Given the description of an element on the screen output the (x, y) to click on. 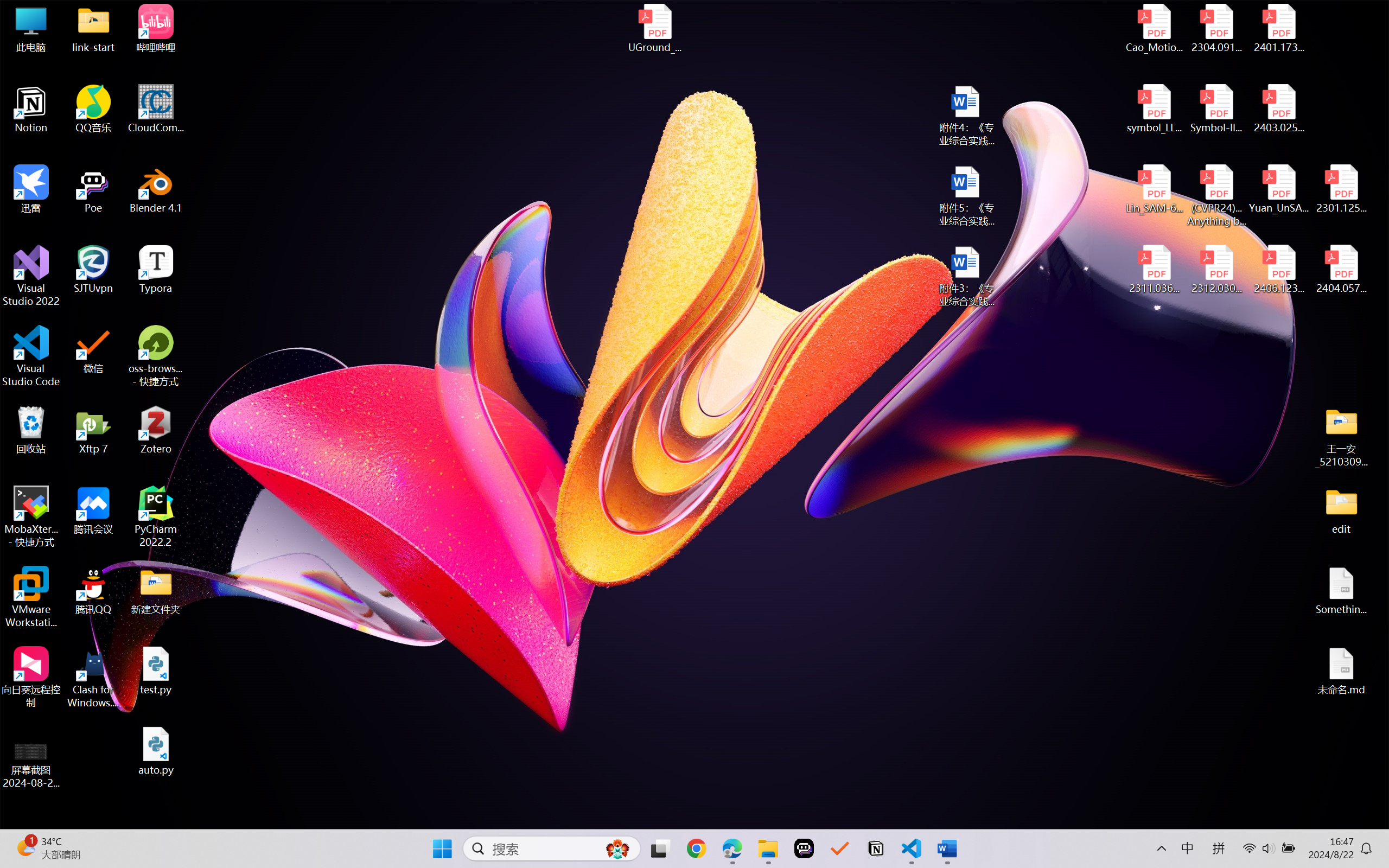
loading~spin, Show Copilot status menu (1158, 816)
